Given the description of an element on the screen output the (x, y) to click on. 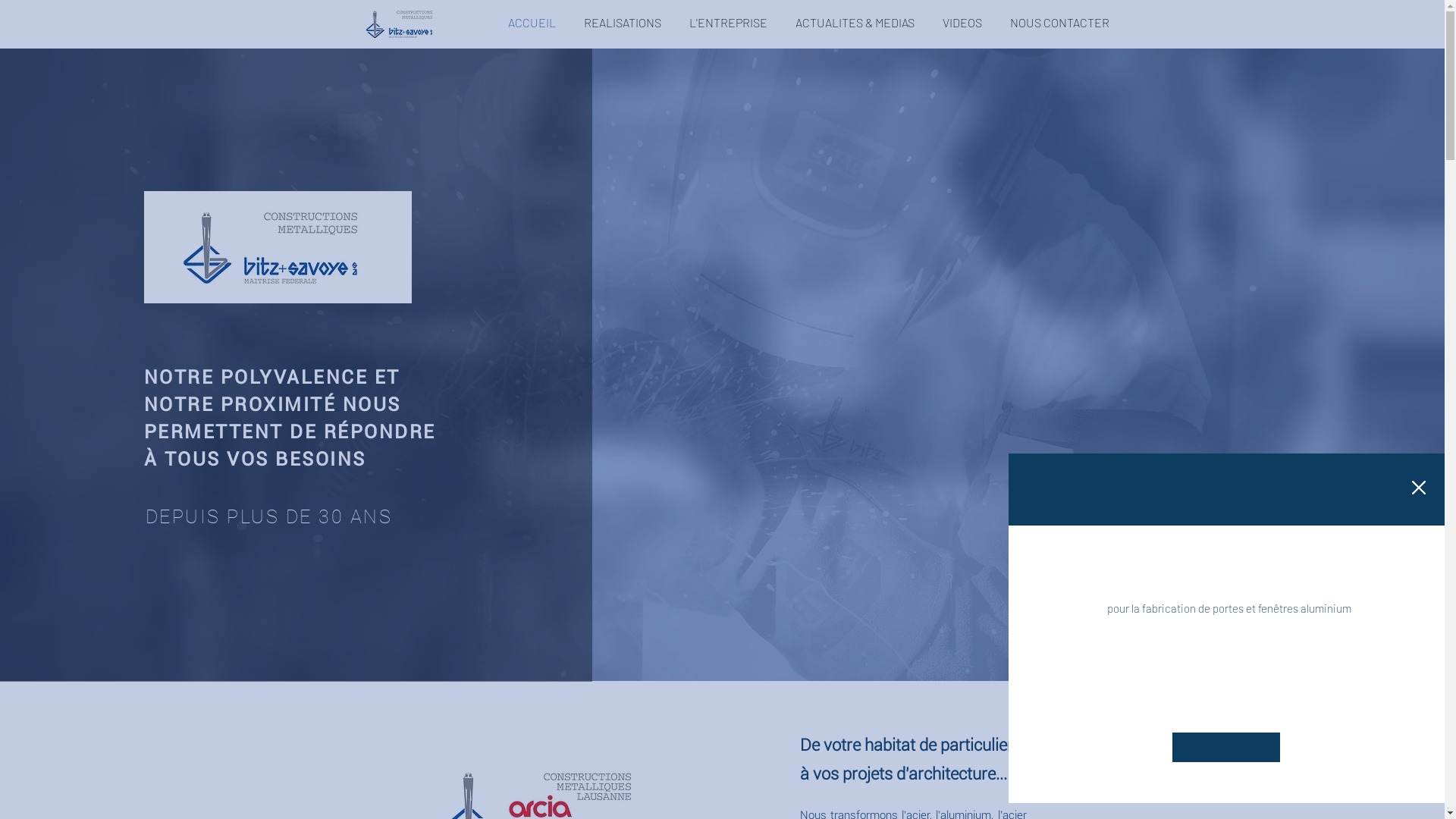
L'ENTREPRISE Element type: text (727, 22)
Retour au site Element type: hover (1418, 495)
VIDEOS Element type: text (961, 22)
REALISATIONS Element type: text (622, 22)
ACTUALITES & MEDIAS Element type: text (854, 22)
NOUS CONTACTER Element type: text (1059, 22)
ACCUEIL Element type: text (532, 22)
